Given the description of an element on the screen output the (x, y) to click on. 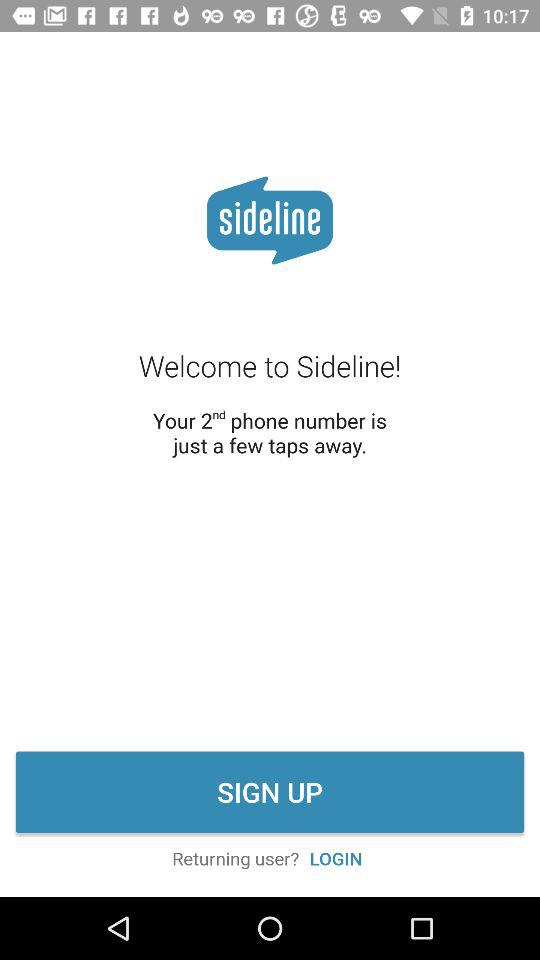
jump until sign up (269, 791)
